Given the description of an element on the screen output the (x, y) to click on. 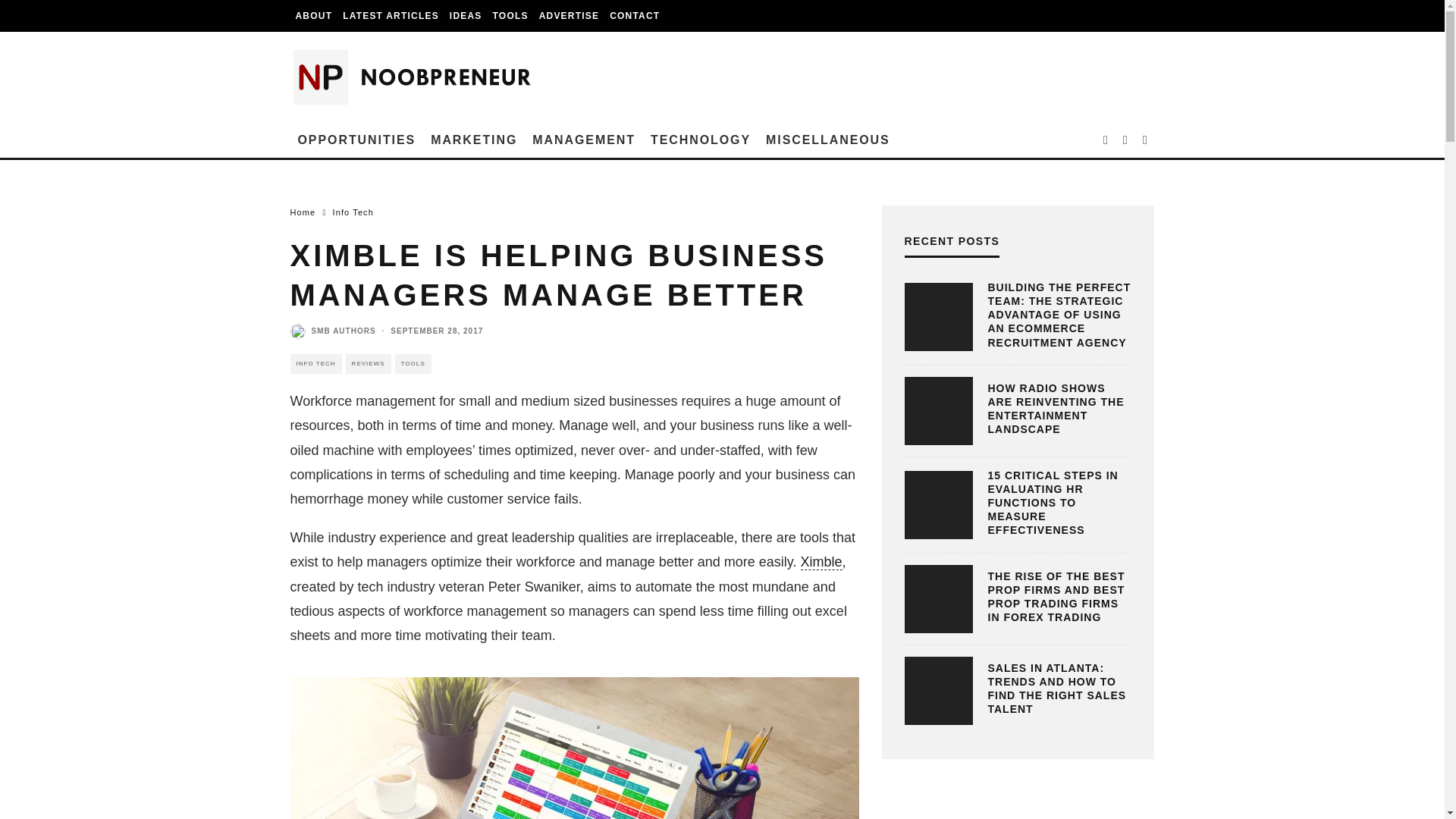
IDEAS (465, 15)
MANAGEMENT (583, 140)
CONTACT (634, 15)
OPPORTUNITIES (356, 140)
Business Marketing (473, 140)
MARKETING (473, 140)
Other Business News and Tips (828, 140)
ADVERTISE (569, 15)
Small Business Ideas (465, 15)
Business Management (583, 140)
